Given the description of an element on the screen output the (x, y) to click on. 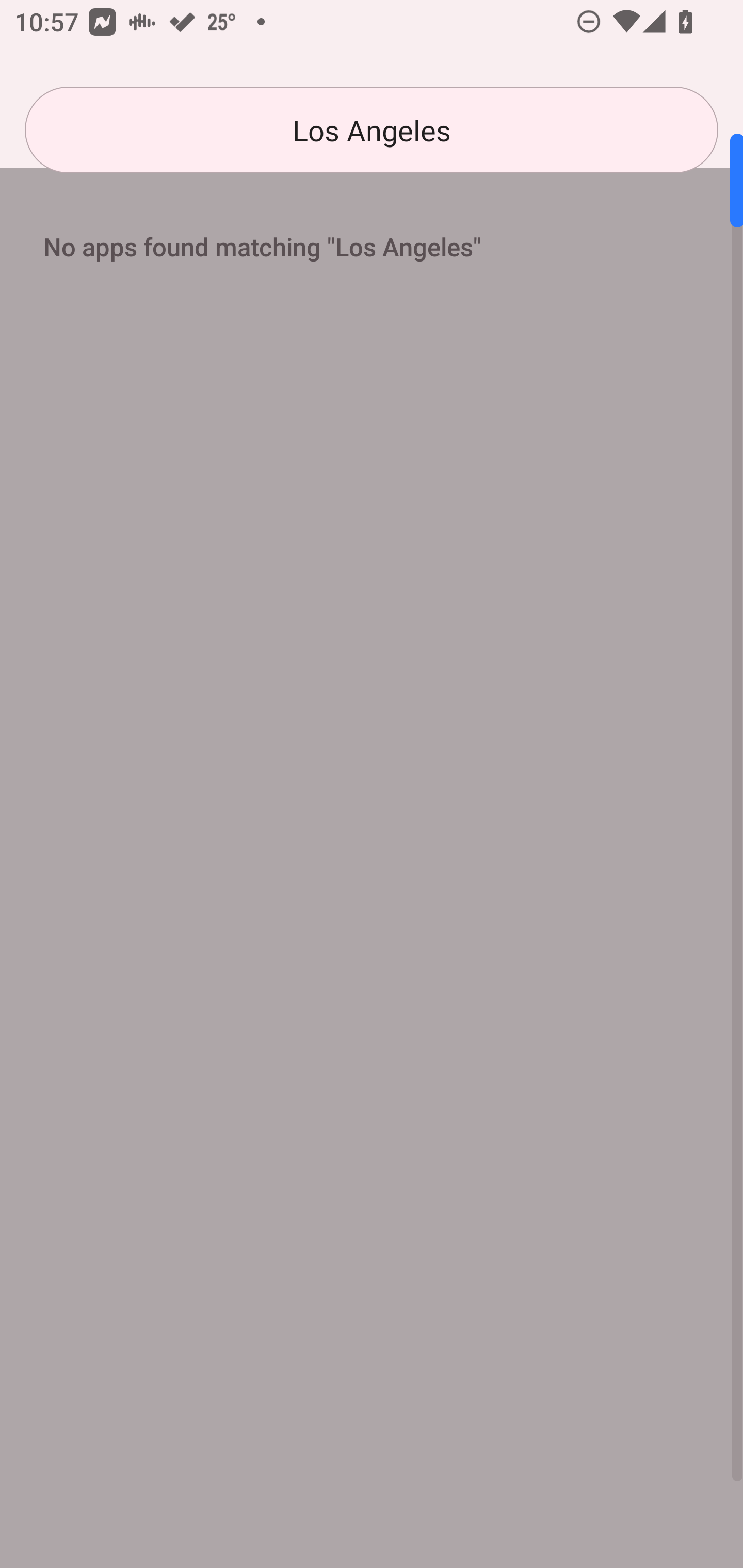
Los Angeles (371, 130)
